Given the description of an element on the screen output the (x, y) to click on. 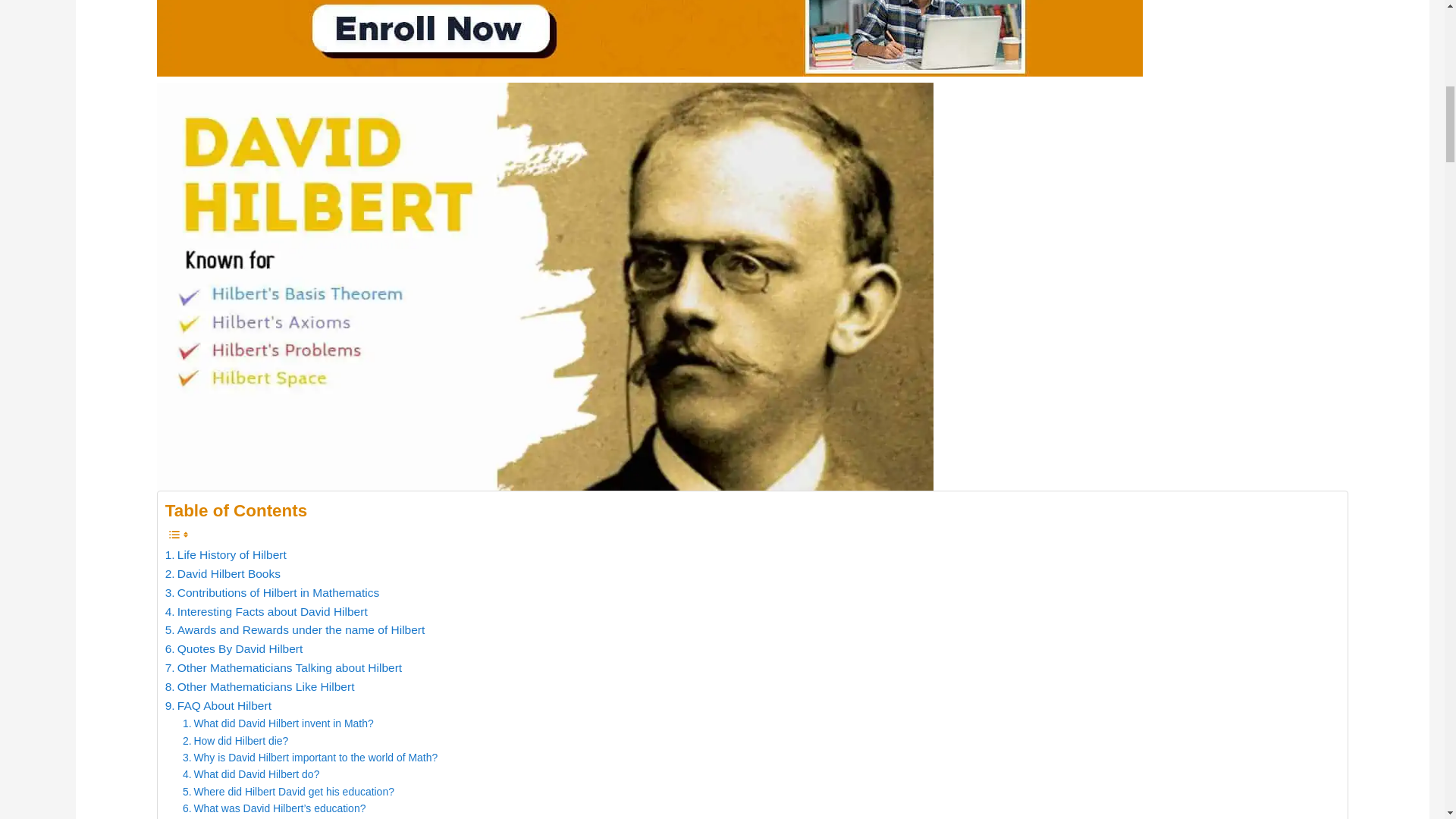
David Hilbert Books (223, 574)
Interesting Facts about David Hilbert (266, 611)
Life History of  Hilbert (225, 555)
Contributions of Hilbert in Mathematics (272, 592)
What did David Hilbert invent in Math? (278, 723)
Quotes By David Hilbert (233, 649)
Other Mathematicians Talking about Hilbert (283, 668)
FAQ About Hilbert (217, 705)
Life History of Hilbert (225, 555)
Other Mathematicians Like Hilbert (260, 687)
David Hilbert Books (223, 574)
How did Hilbert die? (235, 740)
Awards and Rewards under the name of Hilbert (295, 629)
